Given the description of an element on the screen output the (x, y) to click on. 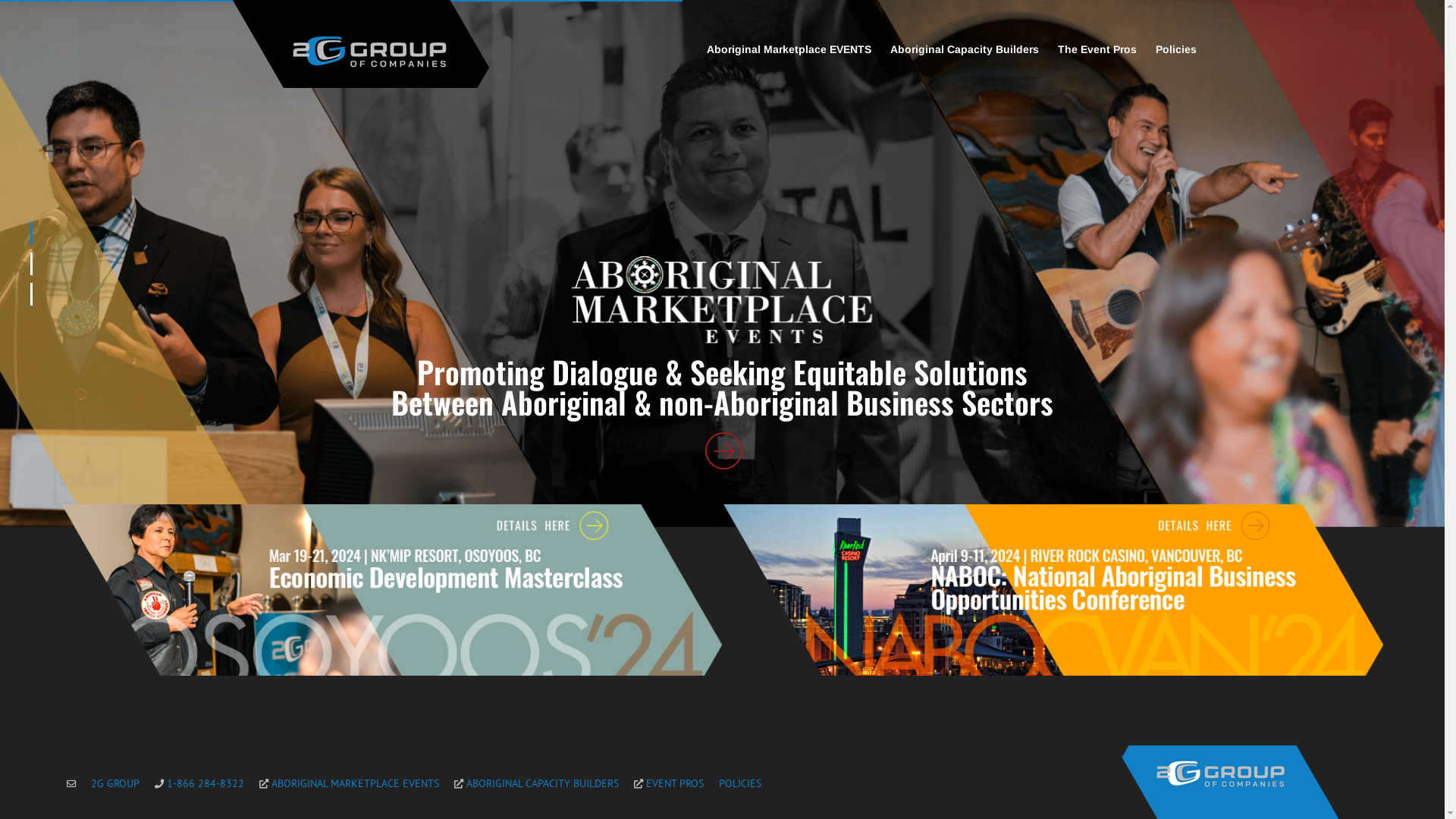
POLICIES Element type: text (739, 783)
1-866 284-8322 Element type: text (199, 783)
ABORIGINAL MARKETPLACE EVENTS Element type: text (348, 783)
2G GROUP Element type: text (115, 783)
Aboriginal Capacity Builders Element type: text (964, 48)
Policies Element type: text (1175, 48)
EVENT PROS Element type: text (668, 783)
Aboriginal Marketplace EVENTS Element type: text (788, 48)
The Event Pros Element type: text (1096, 48)
ABORIGINAL CAPACITY BUILDERS Element type: text (536, 783)
